Given the description of an element on the screen output the (x, y) to click on. 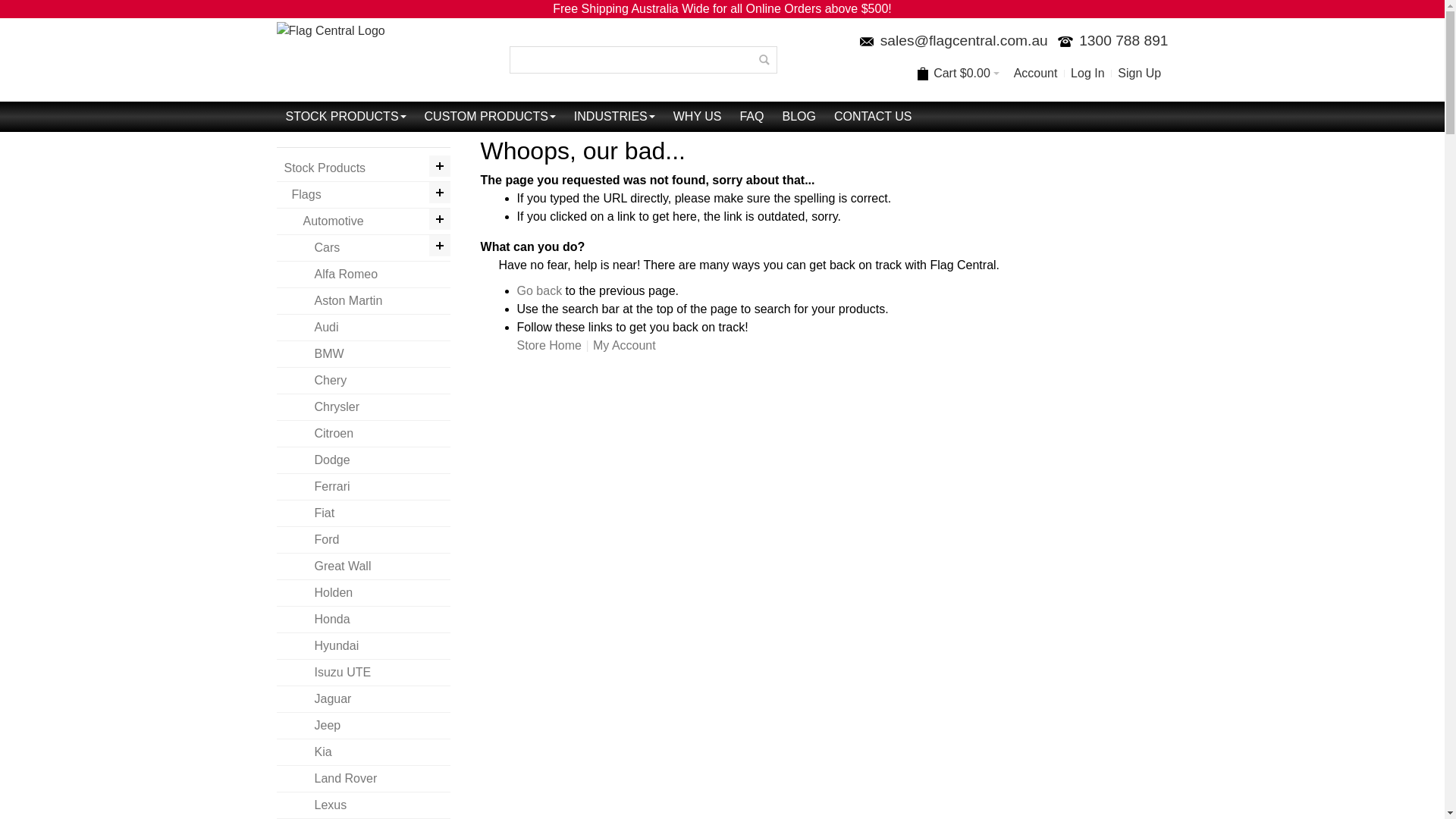
FAQ Element type: text (751, 116)
Chrysler Element type: text (363, 407)
sales@flagcentral.com.au Element type: text (964, 40)
Ferrari Element type: text (363, 486)
Chery Element type: text (363, 380)
Sign Up Element type: text (1139, 73)
Land Rover Element type: text (363, 778)
BLOG Element type: text (798, 116)
Automotive Element type: text (363, 221)
Fiat Element type: text (363, 513)
Flag Central Logo Element type: hover (330, 59)
Dodge Element type: text (363, 460)
BMW Element type: text (363, 354)
Cars Element type: text (363, 248)
Log In Element type: text (1087, 73)
My Account Element type: text (624, 344)
INDUSTRIES  Element type: text (614, 116)
Audi Element type: text (363, 327)
CONTACT US Element type: text (873, 116)
WHY US Element type: text (697, 116)
Store Home Element type: text (549, 344)
Citroen Element type: text (363, 433)
STOCK PRODUCTS  Element type: text (345, 116)
Account Element type: text (1034, 73)
Great Wall Element type: text (363, 566)
Kia Element type: text (363, 752)
Honda Element type: text (363, 619)
Hyundai Element type: text (363, 646)
Aston Martin Element type: text (363, 301)
CUSTOM PRODUCTS  Element type: text (489, 116)
Isuzu UTE Element type: text (363, 672)
Alfa Romeo Element type: text (363, 274)
Ford Element type: text (363, 540)
Jeep Element type: text (363, 725)
1300 788 891 Element type: text (1109, 40)
Search Element type: hover (763, 59)
Holden Element type: text (363, 593)
Jaguar Element type: text (363, 699)
Stock Products Element type: text (363, 168)
Go back Element type: text (539, 290)
Flags Element type: text (363, 195)
